Given the description of an element on the screen output the (x, y) to click on. 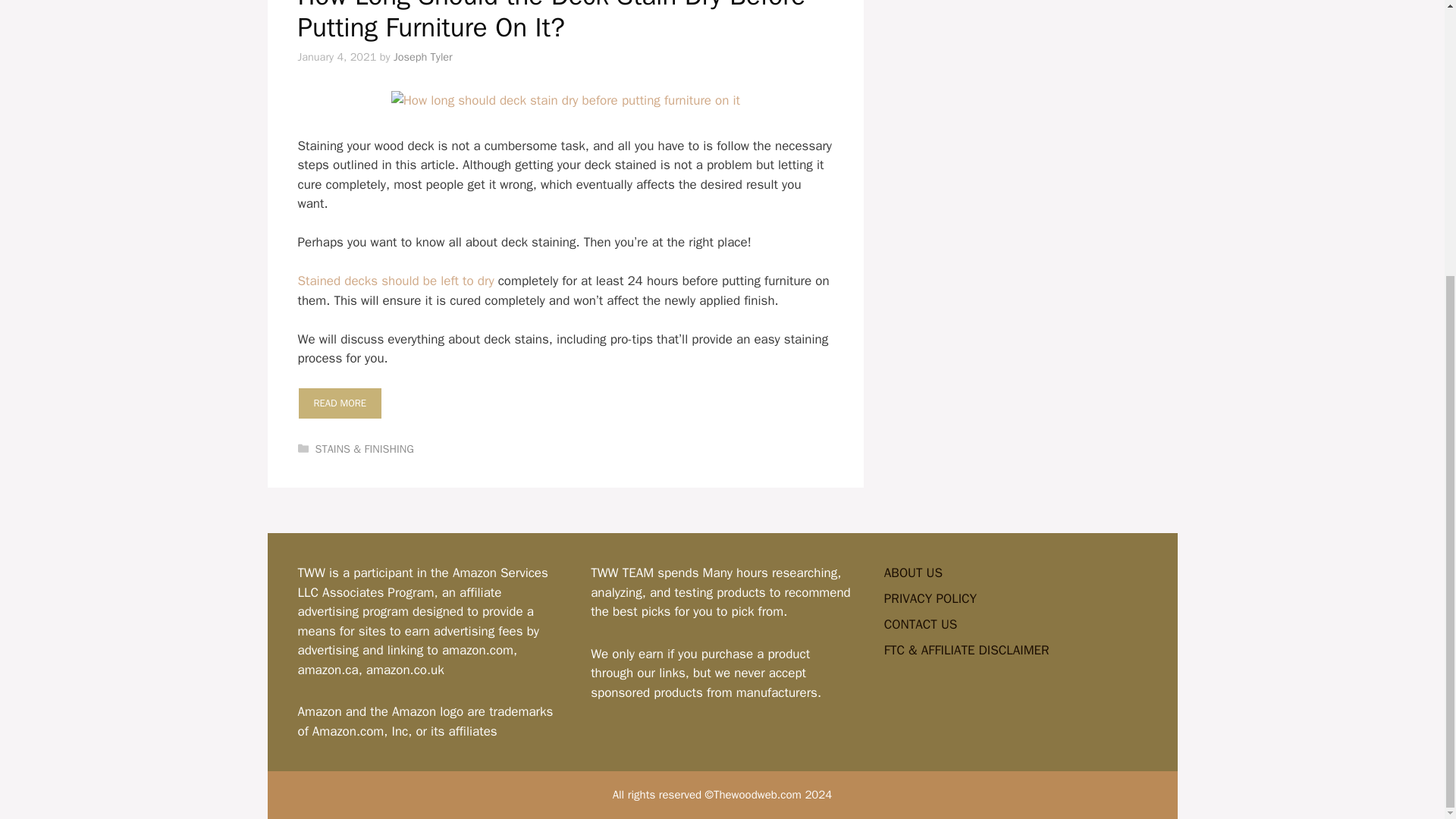
View all posts by Joseph Tyler (422, 56)
Joseph Tyler (422, 56)
READ MORE (339, 403)
Stained decks should be left to dry (395, 280)
ABOUT US (912, 572)
PRIVACY POLICY (929, 598)
